Given the description of an element on the screen output the (x, y) to click on. 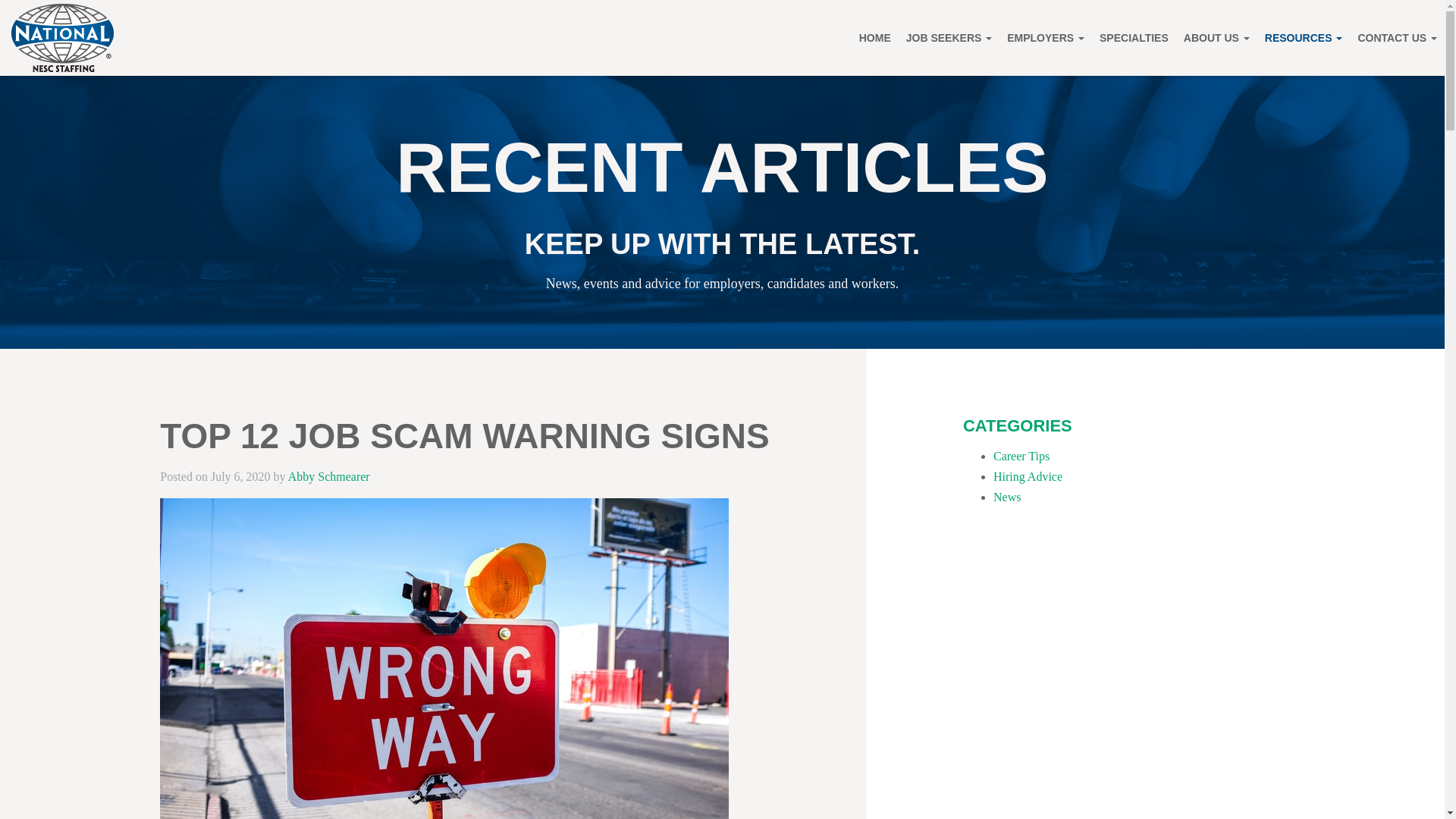
NESC Staffing (62, 38)
EMPLOYERS (1045, 38)
Abby Schmearer (328, 476)
Employers (1045, 38)
About Us (1216, 38)
RESOURCES (1304, 38)
ABOUT US (1216, 38)
Specialties (1134, 38)
SPECIALTIES (1134, 38)
JOB SEEKERS (948, 38)
